Given the description of an element on the screen output the (x, y) to click on. 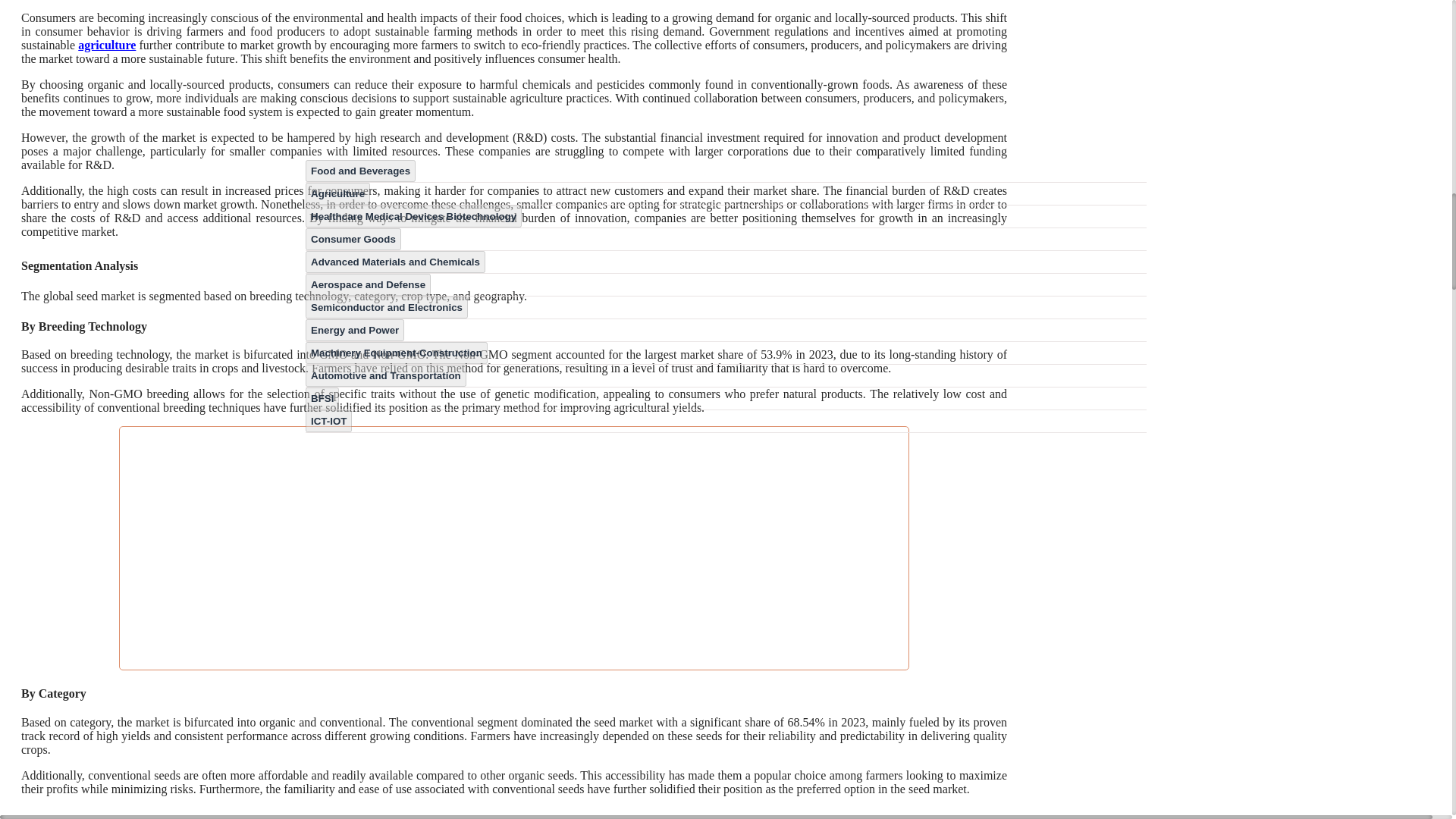
Smart Agriculture Market (106, 44)
